Given the description of an element on the screen output the (x, y) to click on. 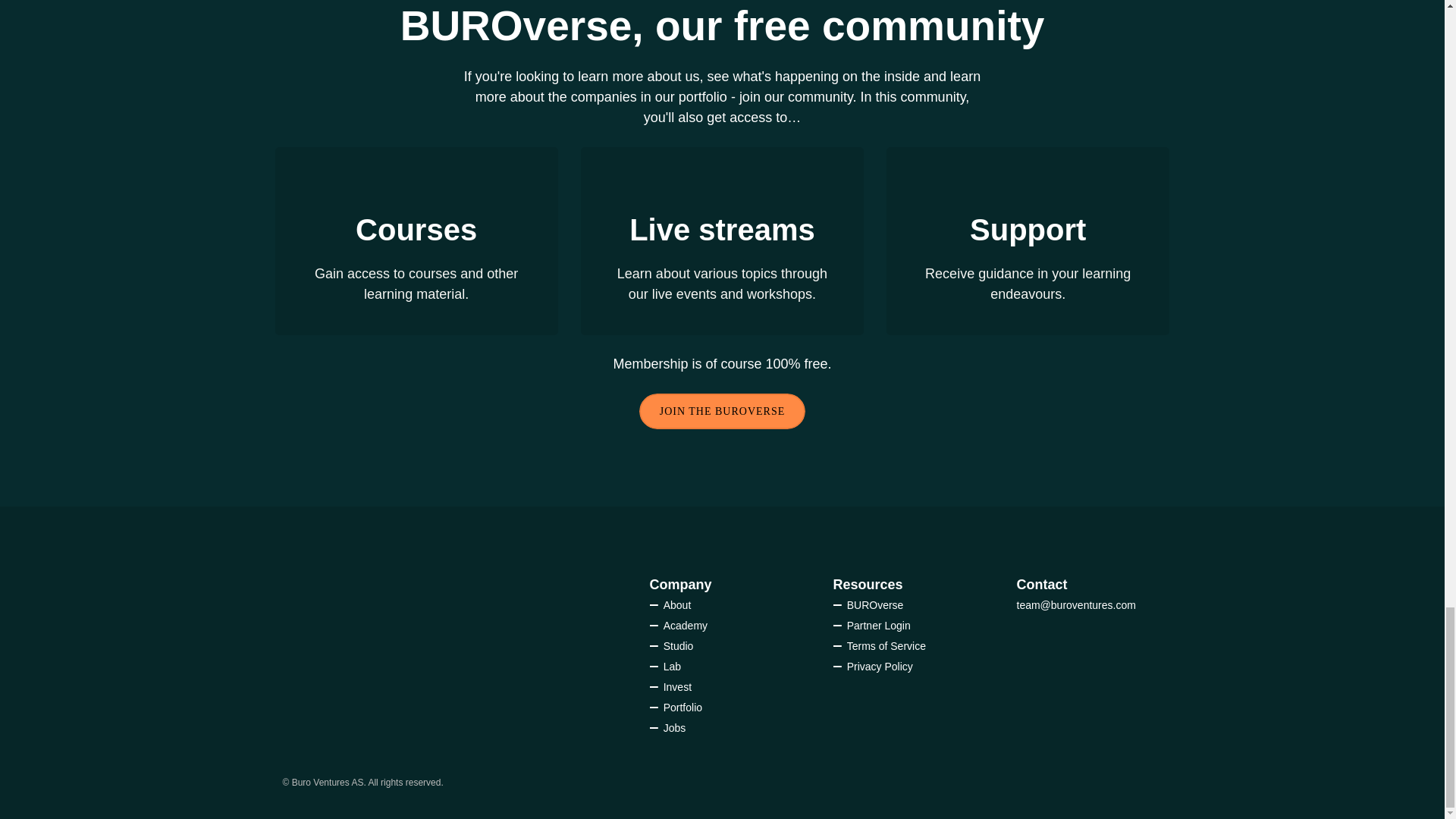
Invest (677, 686)
Terms of Service (878, 645)
Jobs (674, 727)
Studio (678, 645)
Academy (685, 625)
BUROverse (875, 604)
Lab (672, 666)
Partner Login (879, 625)
About (669, 604)
Privacy Policy (879, 666)
JOIN THE BUROVERSE (722, 410)
Portfolio (682, 707)
